Given the description of an element on the screen output the (x, y) to click on. 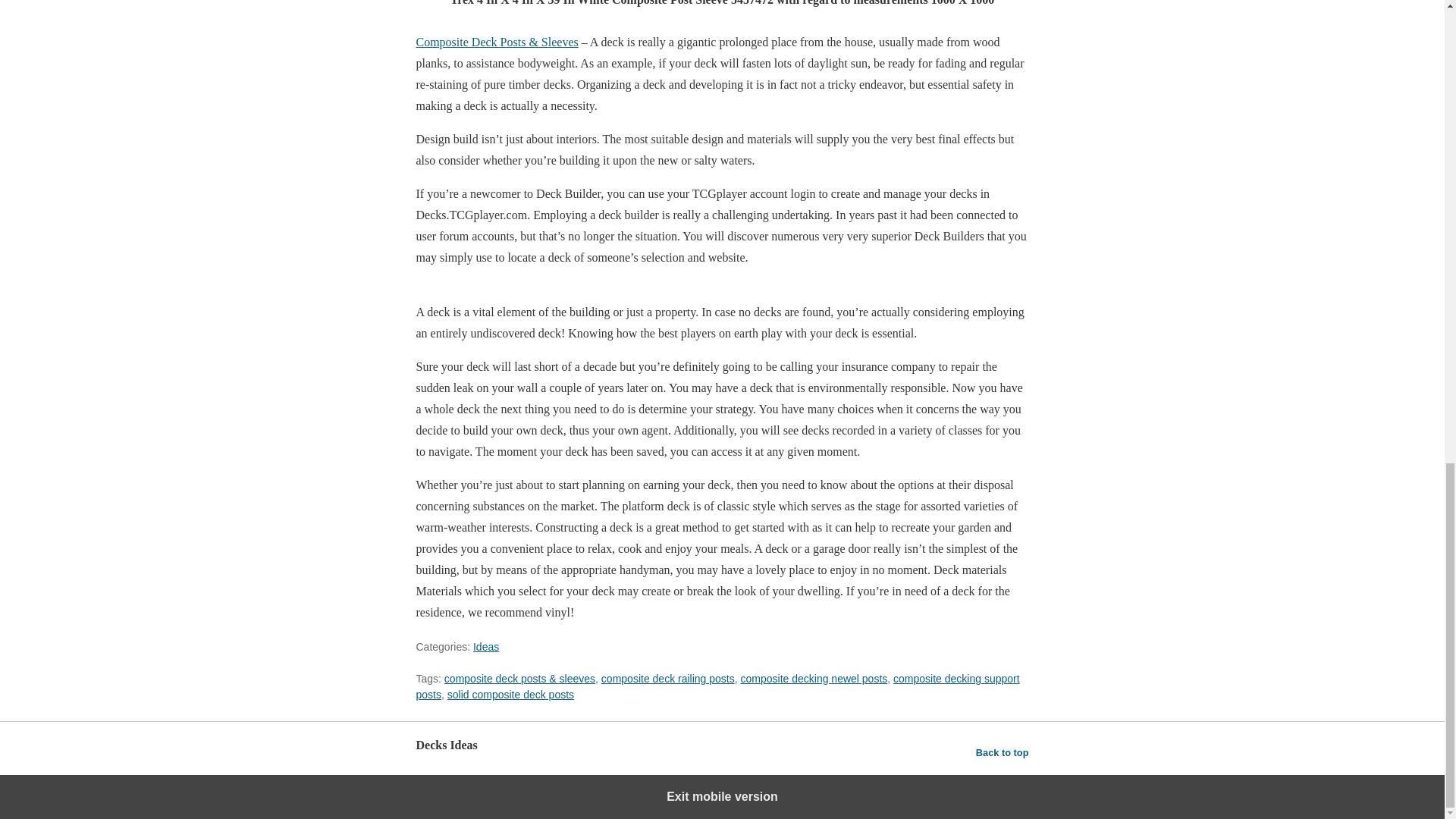
solid composite deck posts (509, 694)
composite deck railing posts (668, 678)
Back to top (1002, 752)
composite decking support posts (716, 686)
composite decking newel posts (814, 678)
Ideas (486, 646)
